Given the description of an element on the screen output the (x, y) to click on. 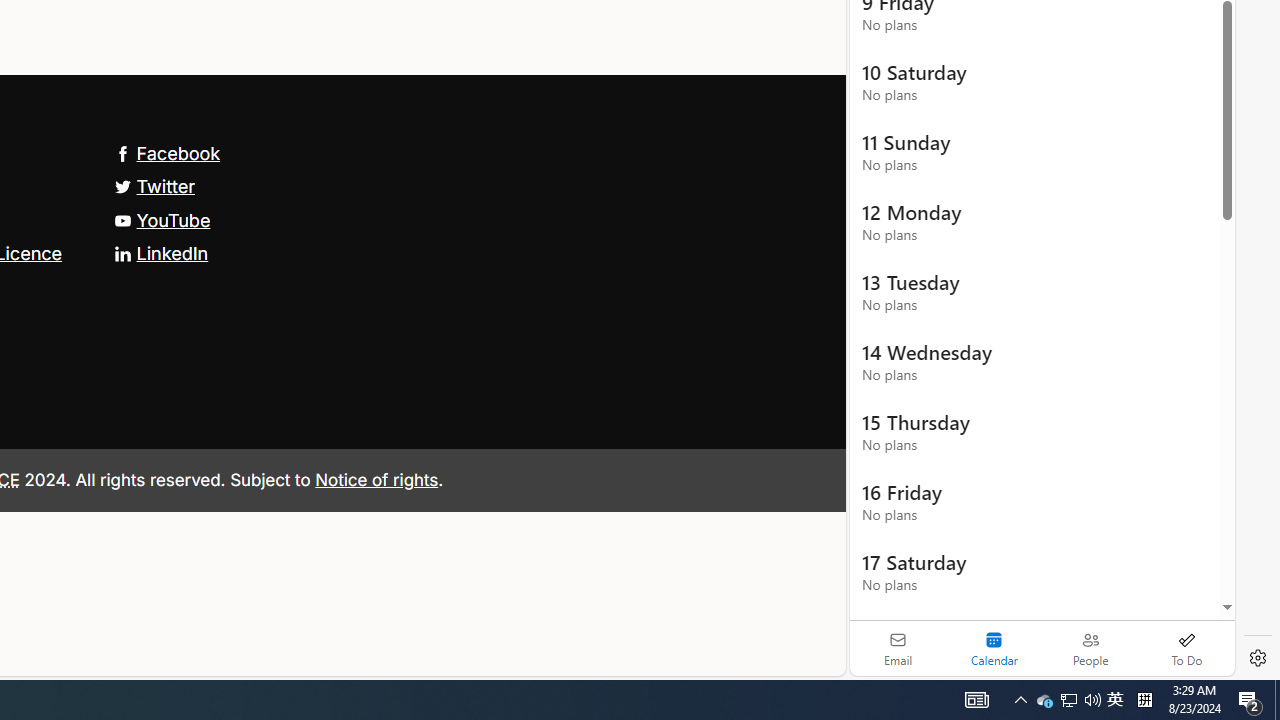
Email (898, 648)
LinkedIn (160, 252)
